Given the description of an element on the screen output the (x, y) to click on. 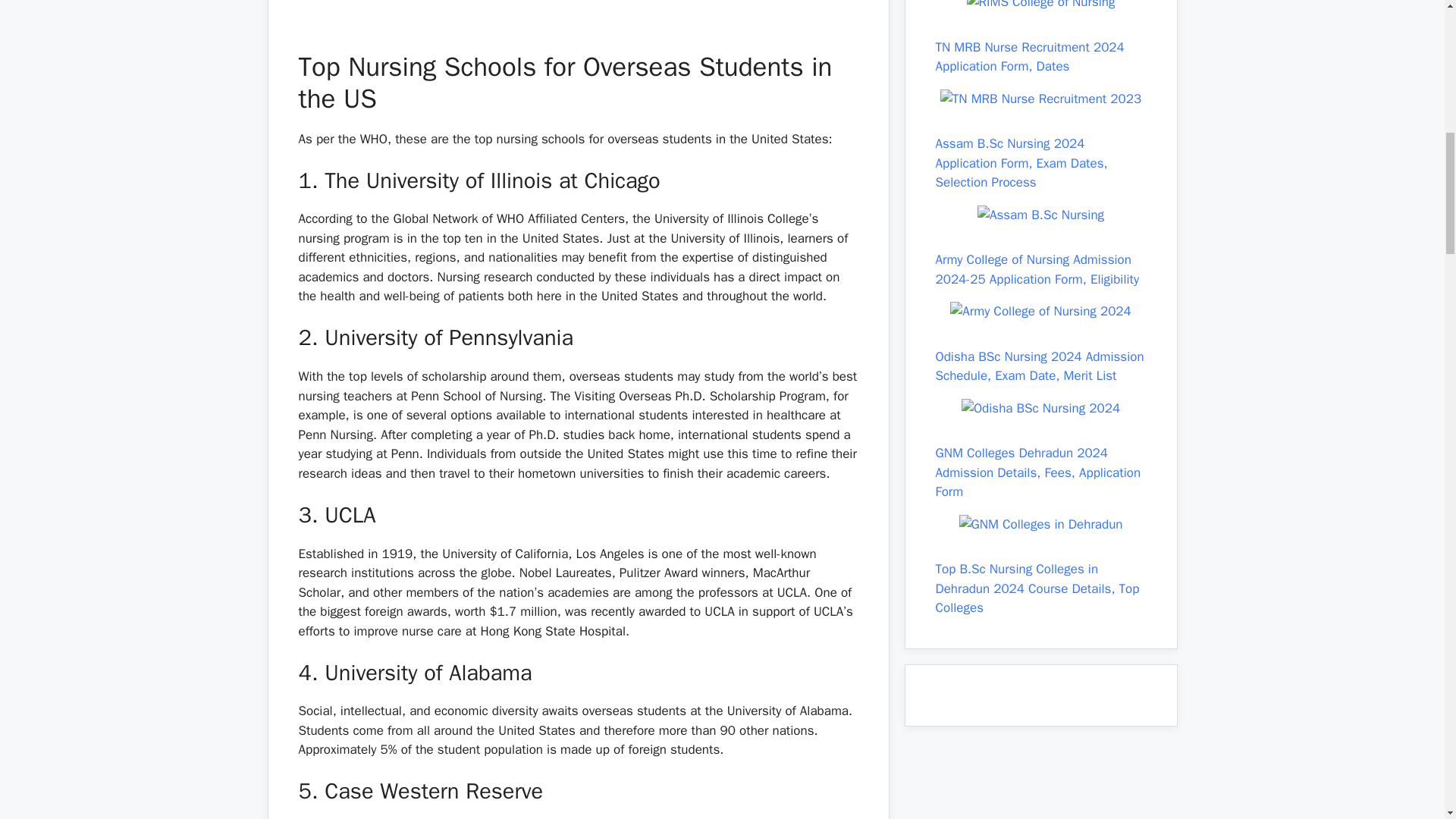
TN MRB Nurse Recruitment 2024 Application Form, Dates (1030, 57)
TN MRB Nurse Recruitment 2024 Application Form, Dates (1040, 98)
